Given the description of an element on the screen output the (x, y) to click on. 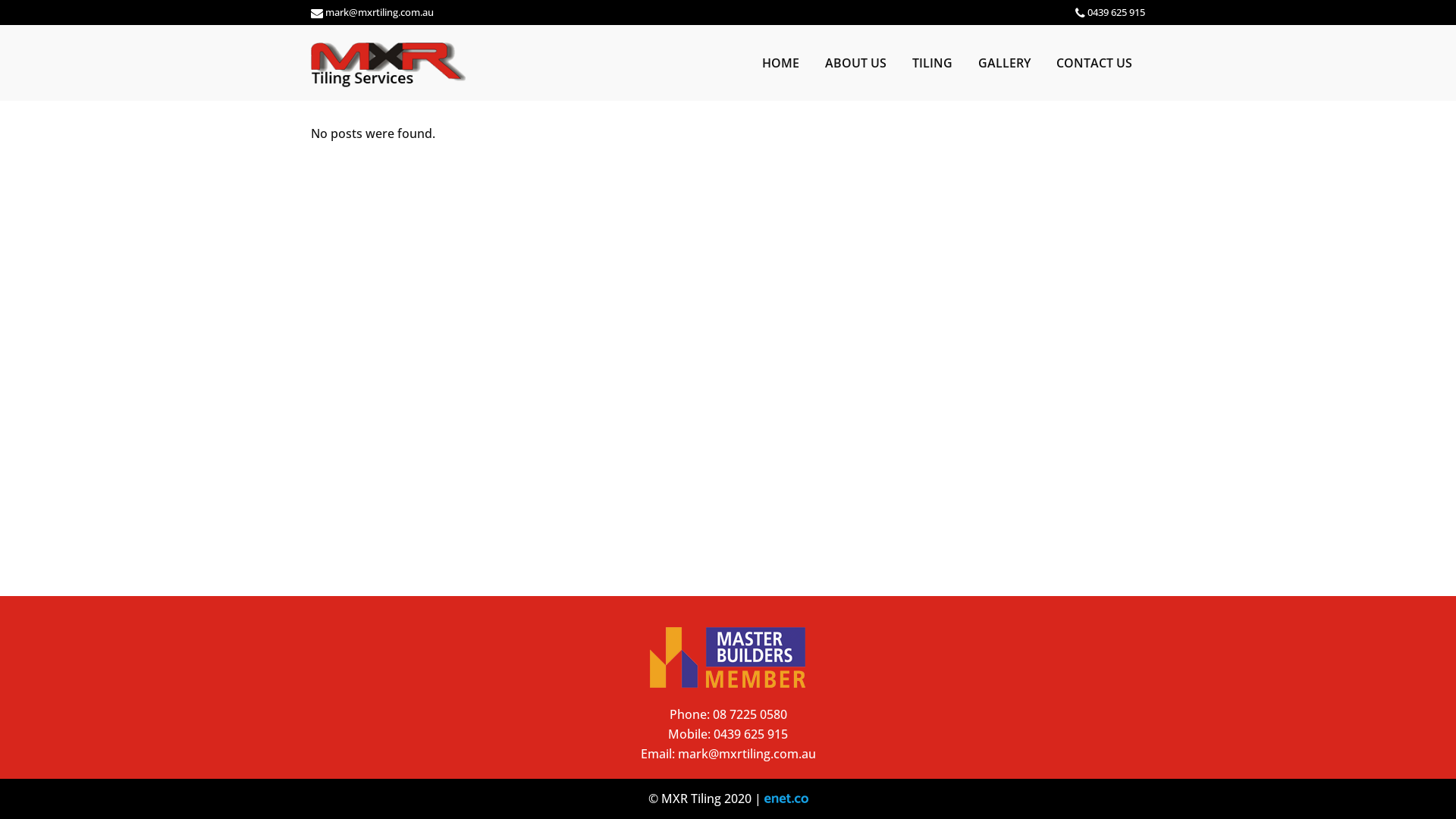
08 7225 0580 Element type: text (749, 714)
TILING Element type: text (932, 62)
HOME Element type: text (780, 62)
GALLERY Element type: text (1004, 62)
CONTACT US Element type: text (1094, 62)
ABOUT US Element type: text (855, 62)
mark@mxrtiling.com.au Element type: text (379, 11)
0439 625 915 Element type: text (750, 733)
mark@mxrtiling.com.au Element type: text (746, 753)
